Given the description of an element on the screen output the (x, y) to click on. 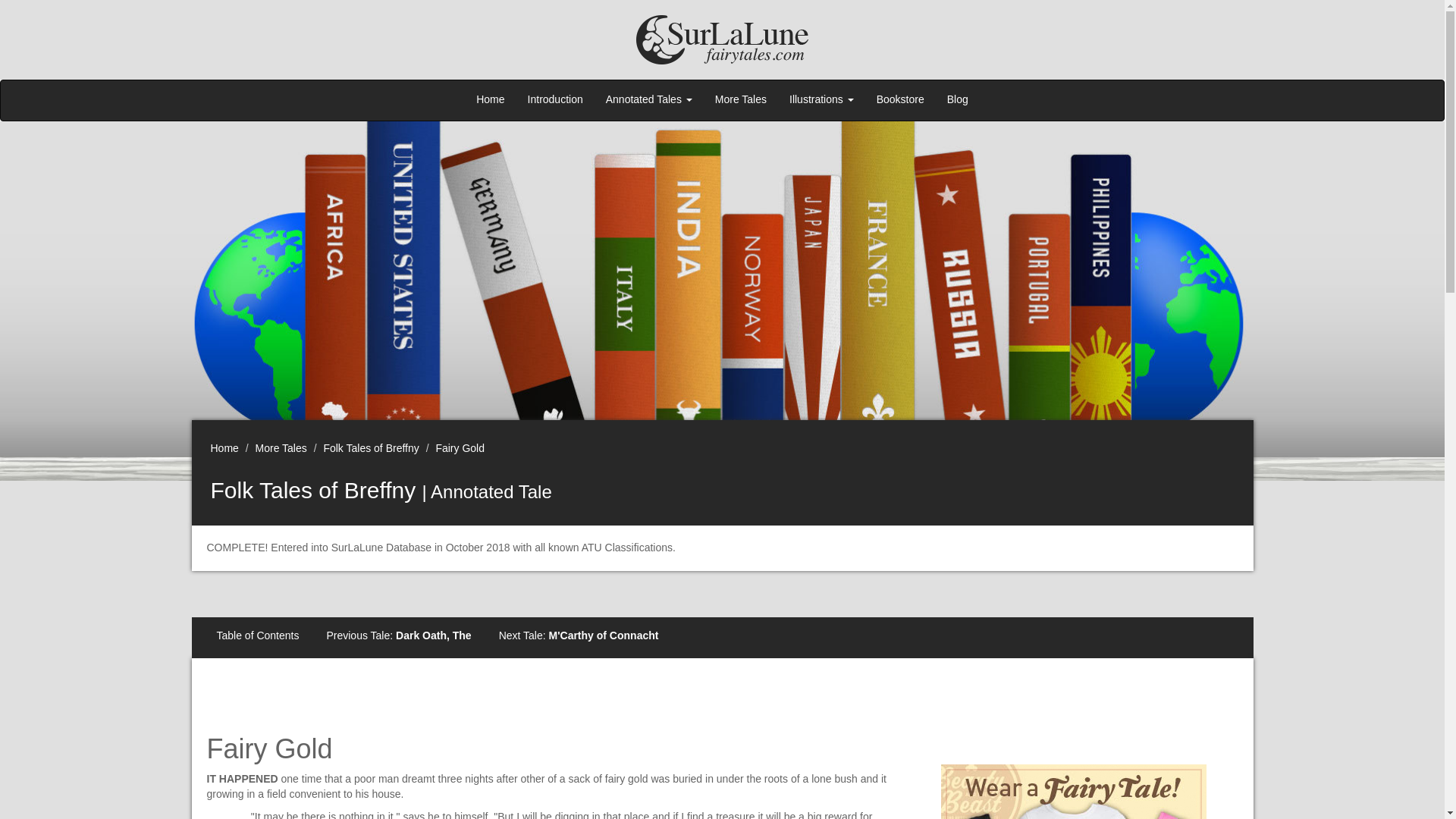
Folk Tales of Breffny (371, 448)
Home (224, 448)
Previous Tale: Dark Oath, The (397, 637)
More Tales (281, 448)
Bookstore (900, 100)
Blog (957, 100)
Illustrations (820, 100)
More Tales (740, 100)
Home (489, 100)
Fairy Gold (459, 448)
